Given the description of an element on the screen output the (x, y) to click on. 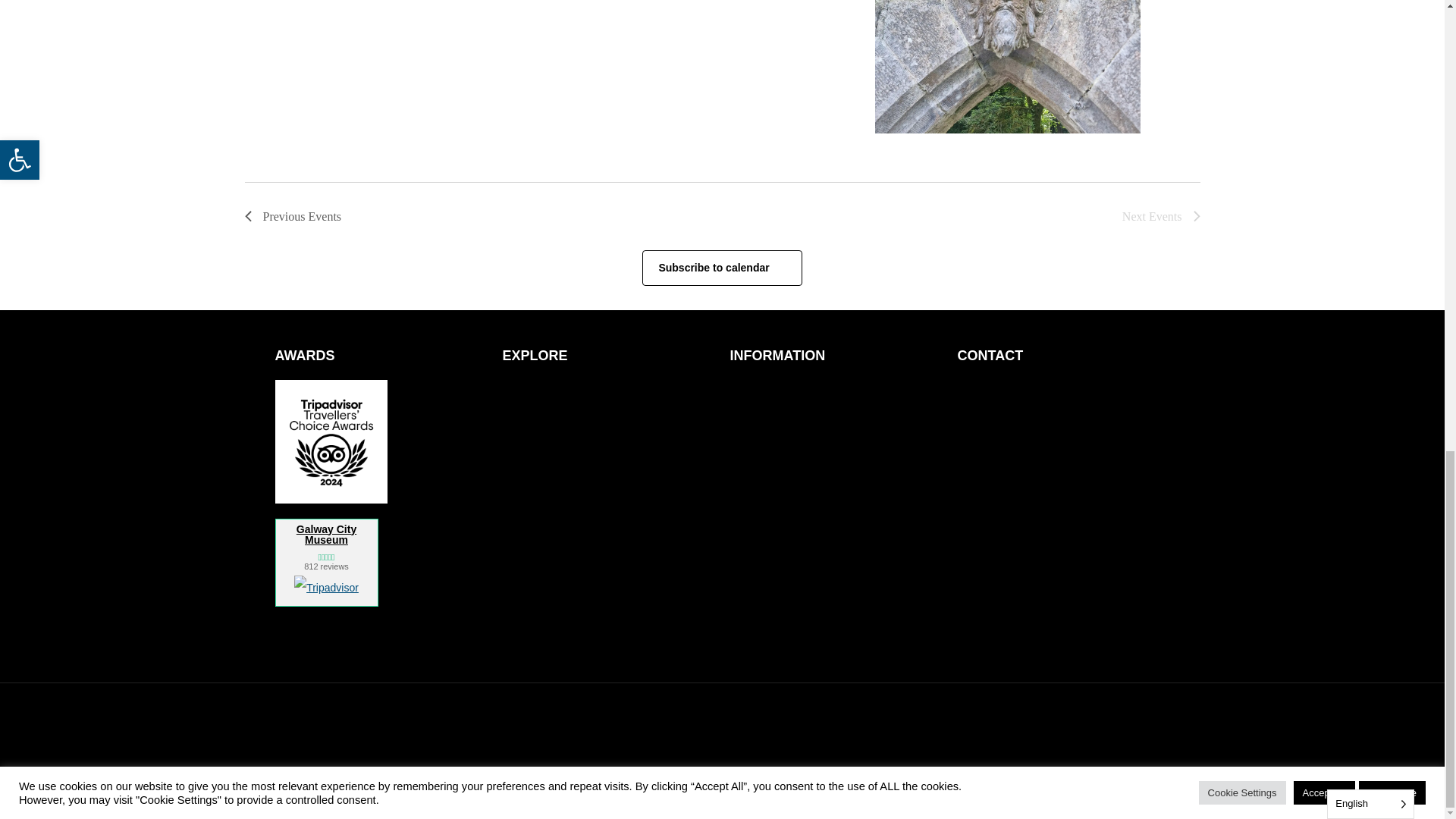
Previous Events (292, 216)
